Given the description of an element on the screen output the (x, y) to click on. 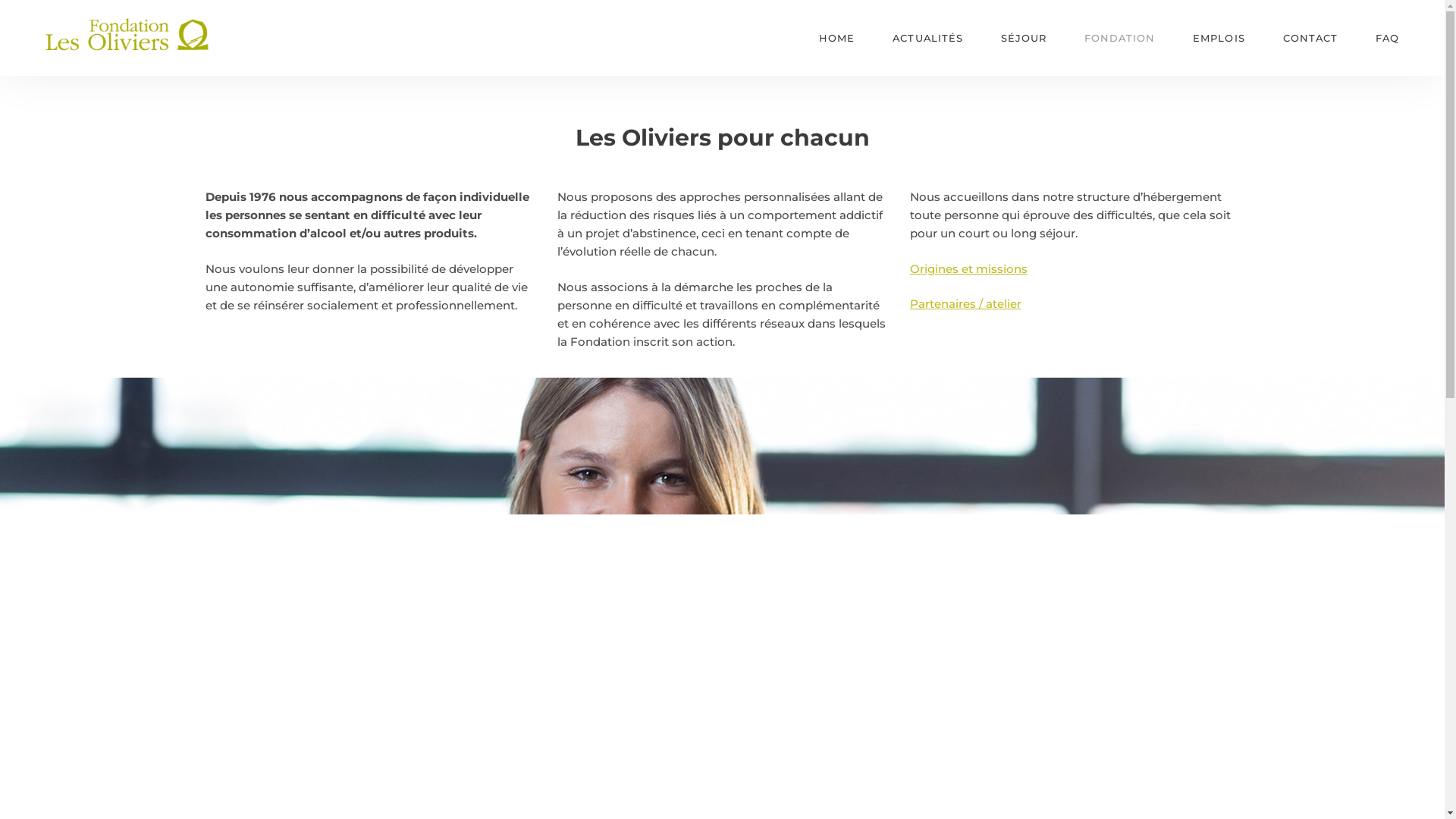
FONDATION Element type: text (1119, 37)
EMPLOIS Element type: text (1218, 37)
Fondation Les Oliviers Element type: text (105, 92)
Origines et missions Element type: text (968, 267)
Partenaires / atelier Element type: text (965, 303)
FAQ Element type: text (1387, 37)
HOME Element type: text (836, 37)
CONTACT Element type: text (1310, 37)
